Given the description of an element on the screen output the (x, y) to click on. 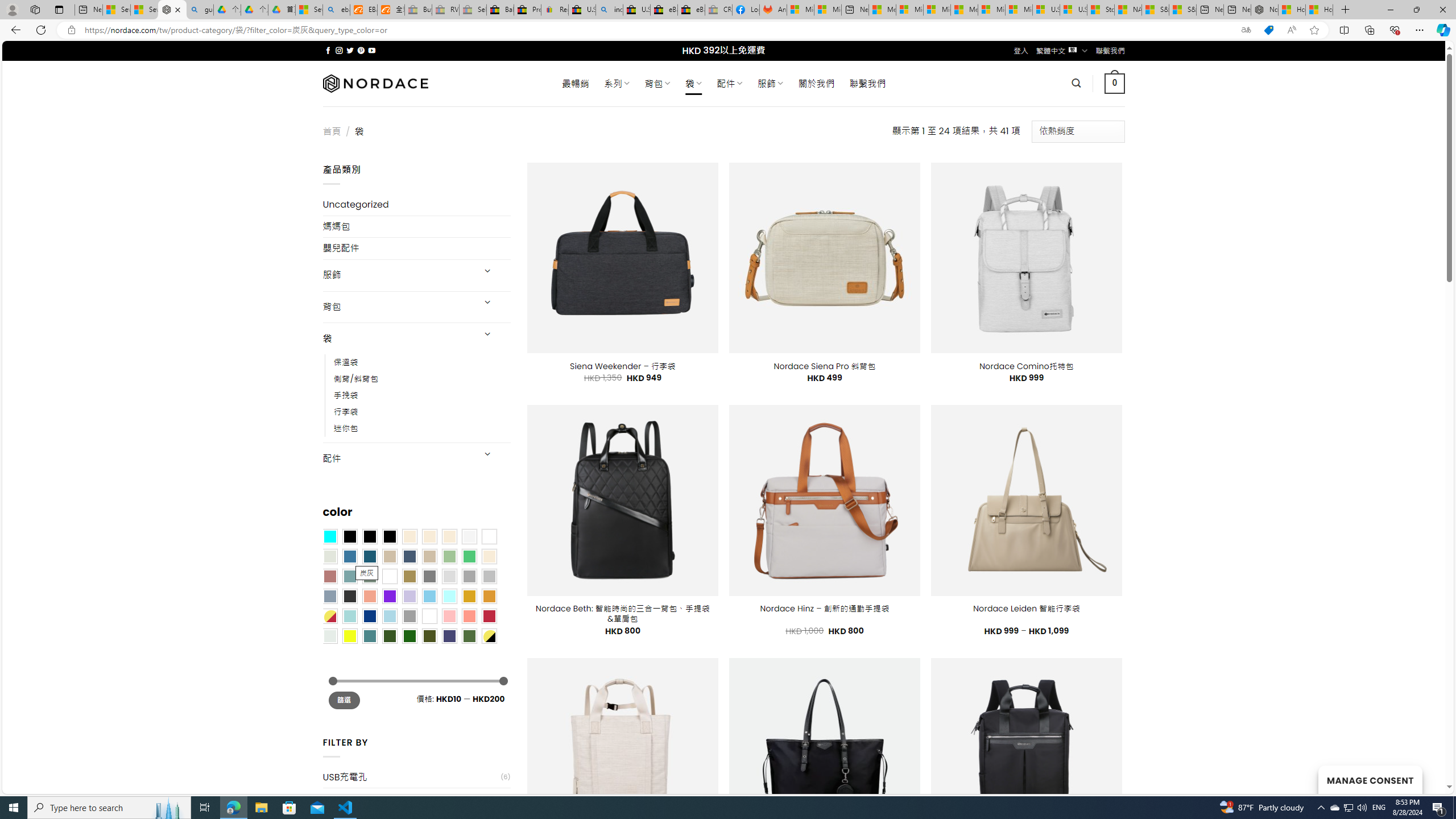
Microsoft account | Home (936, 9)
U.S. State Privacy Disclosures - eBay Inc. (636, 9)
Follow on Facebook (327, 50)
Buy Auto Parts & Accessories | eBay - Sleeping (418, 9)
This site has coupons! Shopping in Microsoft Edge (1268, 29)
